Given the description of an element on the screen output the (x, y) to click on. 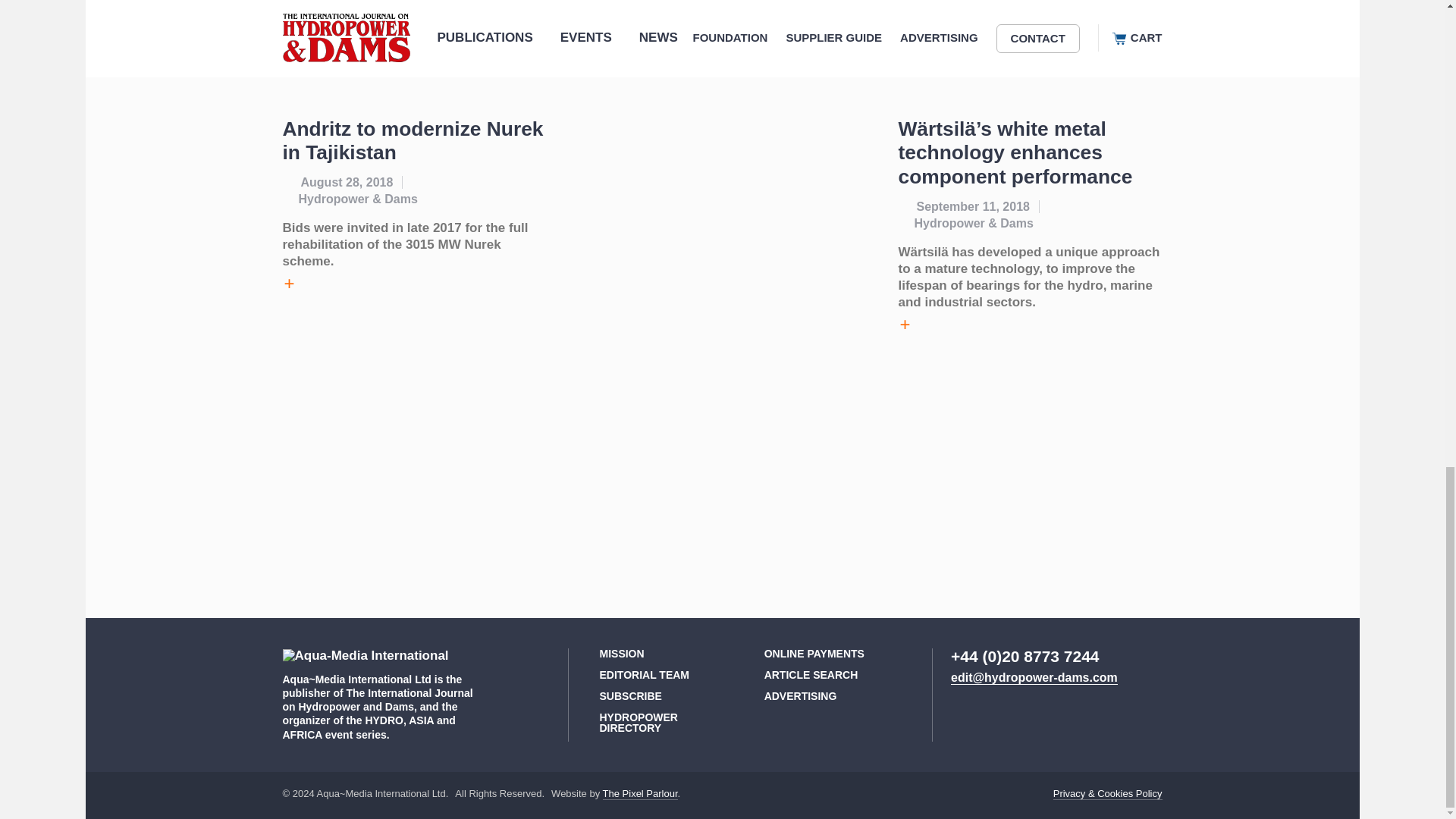
Andritz to modernize Nurek in Tajikistan (412, 140)
PREVIOUS ARTICLE (428, 49)
HYDROPOWER DIRECTORY (637, 722)
NEXT ARTICLE (1015, 49)
EDITORIAL TEAM (643, 675)
LinkedIn (965, 714)
SUBSCRIBE (629, 696)
MISSION (620, 653)
